Given the description of an element on the screen output the (x, y) to click on. 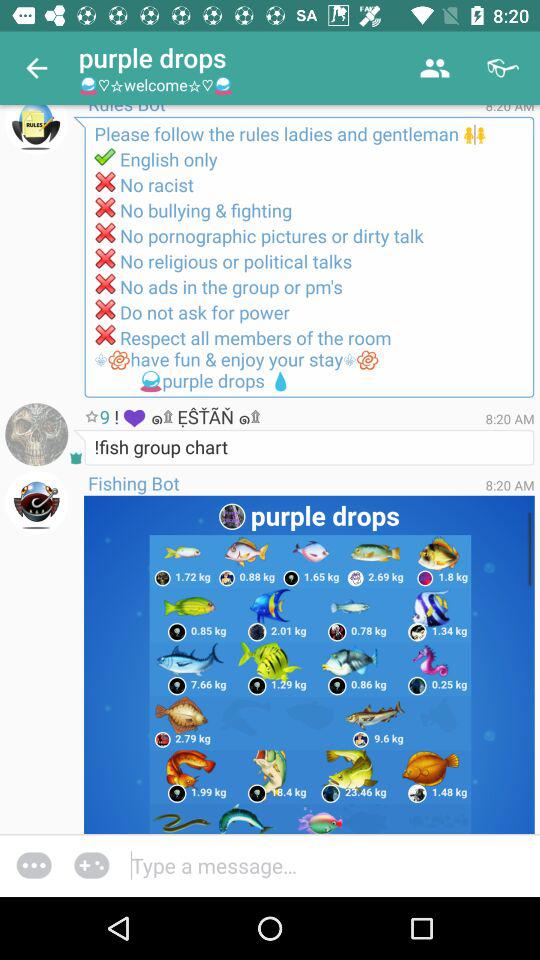
select the text below english only (309, 305)
select the spectacles icon on the top (503, 68)
select the text field (333, 865)
